Given the description of an element on the screen output the (x, y) to click on. 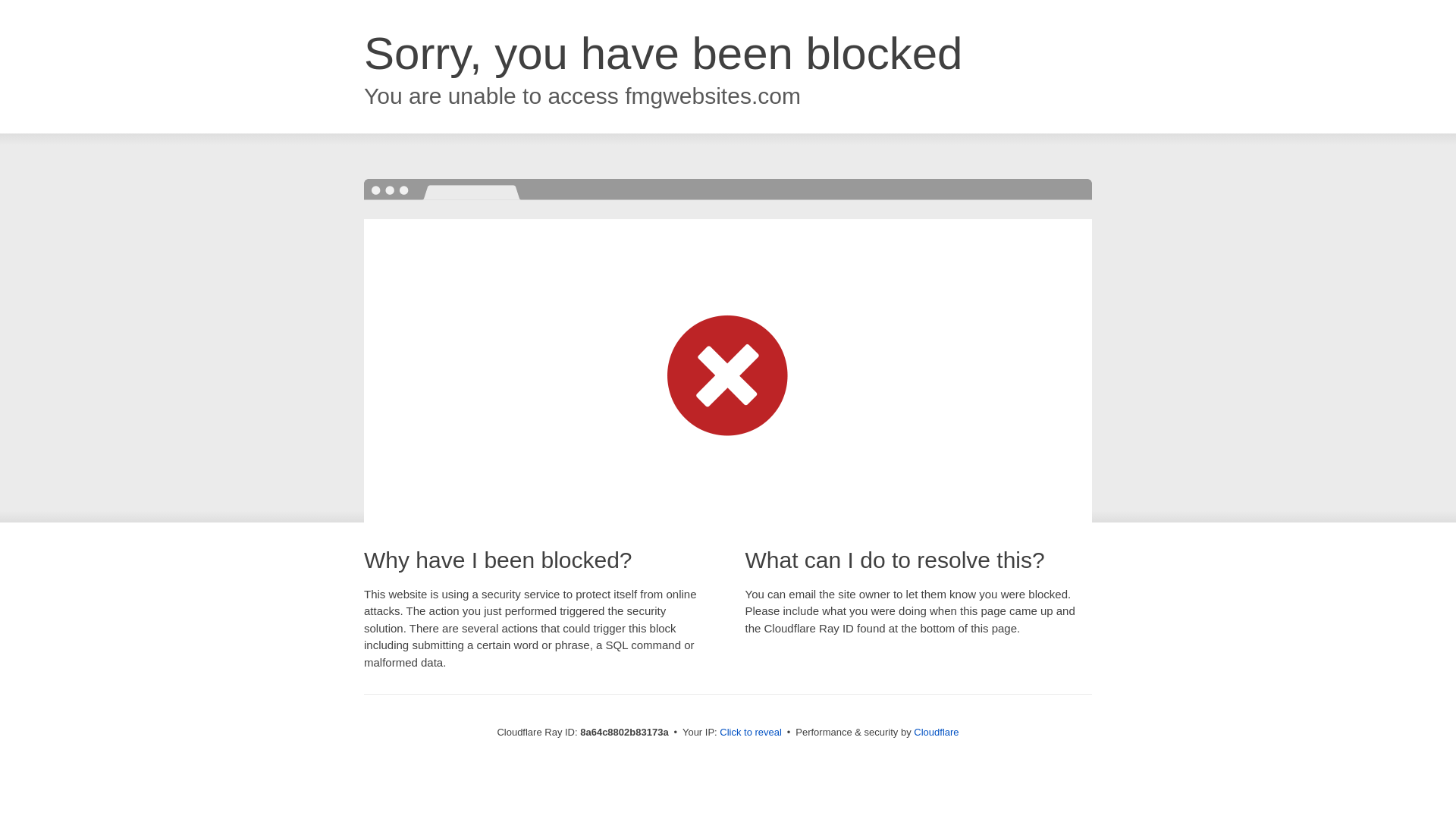
Cloudflare (936, 731)
Click to reveal (750, 732)
